Given the description of an element on the screen output the (x, y) to click on. 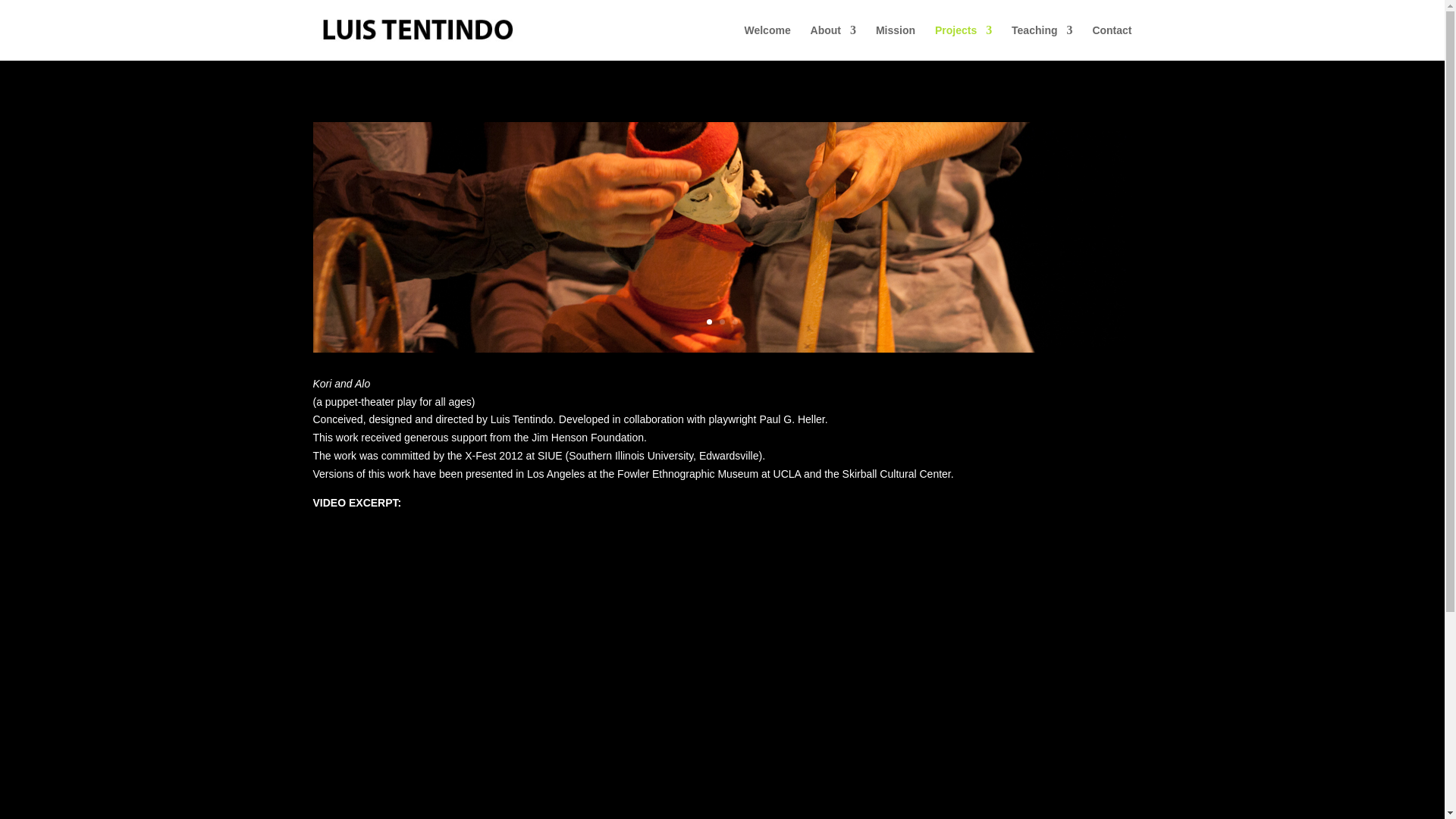
About (833, 42)
Welcome (767, 42)
Projects (962, 42)
Contact (1111, 42)
Mission (895, 42)
Teaching (1041, 42)
